Given the description of an element on the screen output the (x, y) to click on. 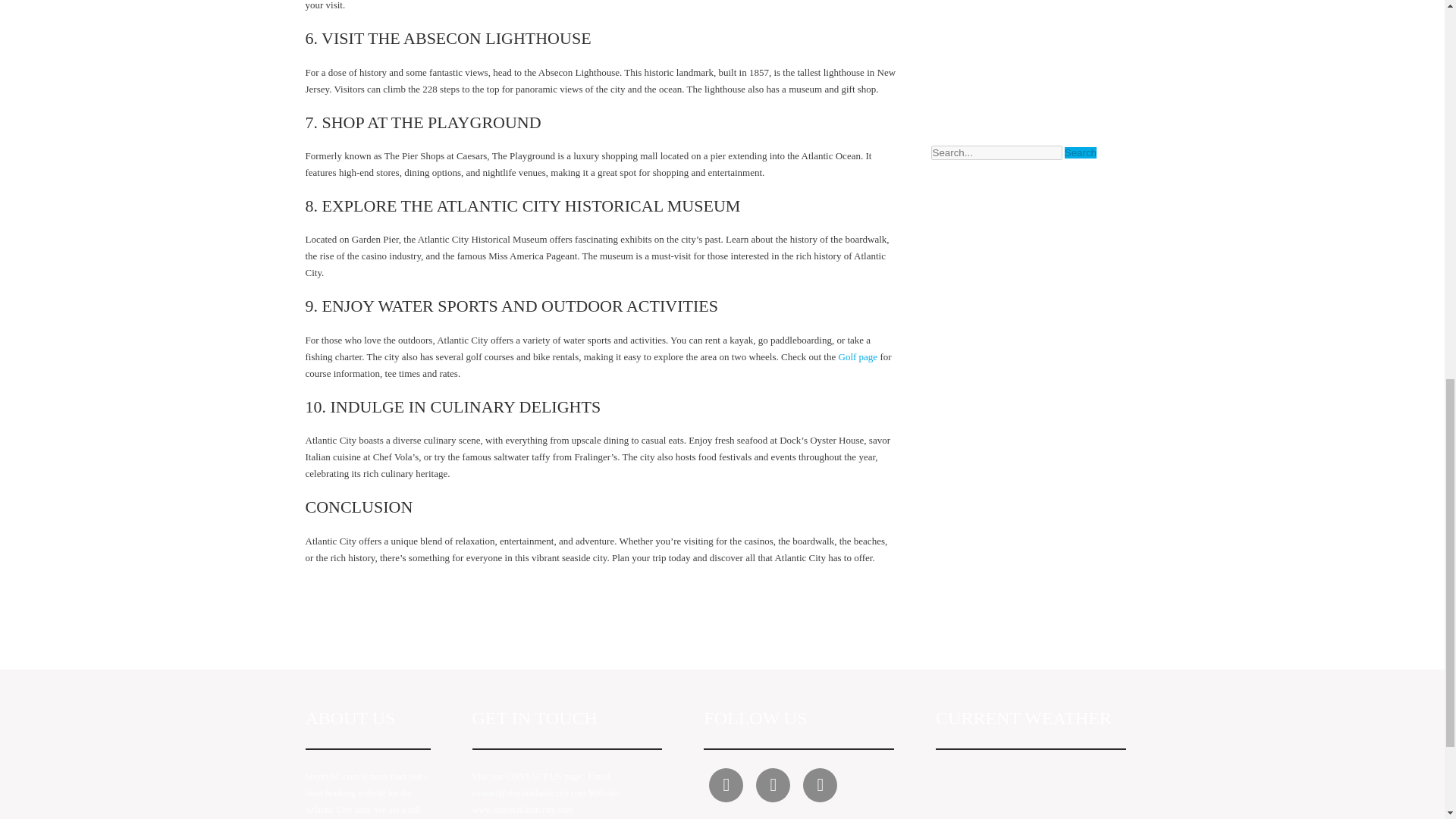
CONTACT US (533, 776)
StayinAC.com (331, 776)
Search (1080, 152)
Search (1080, 152)
Advertisement (1029, 53)
youtube (772, 785)
twitter (725, 785)
Search (1080, 152)
Golf page (859, 356)
instagram (820, 785)
